Given the description of an element on the screen output the (x, y) to click on. 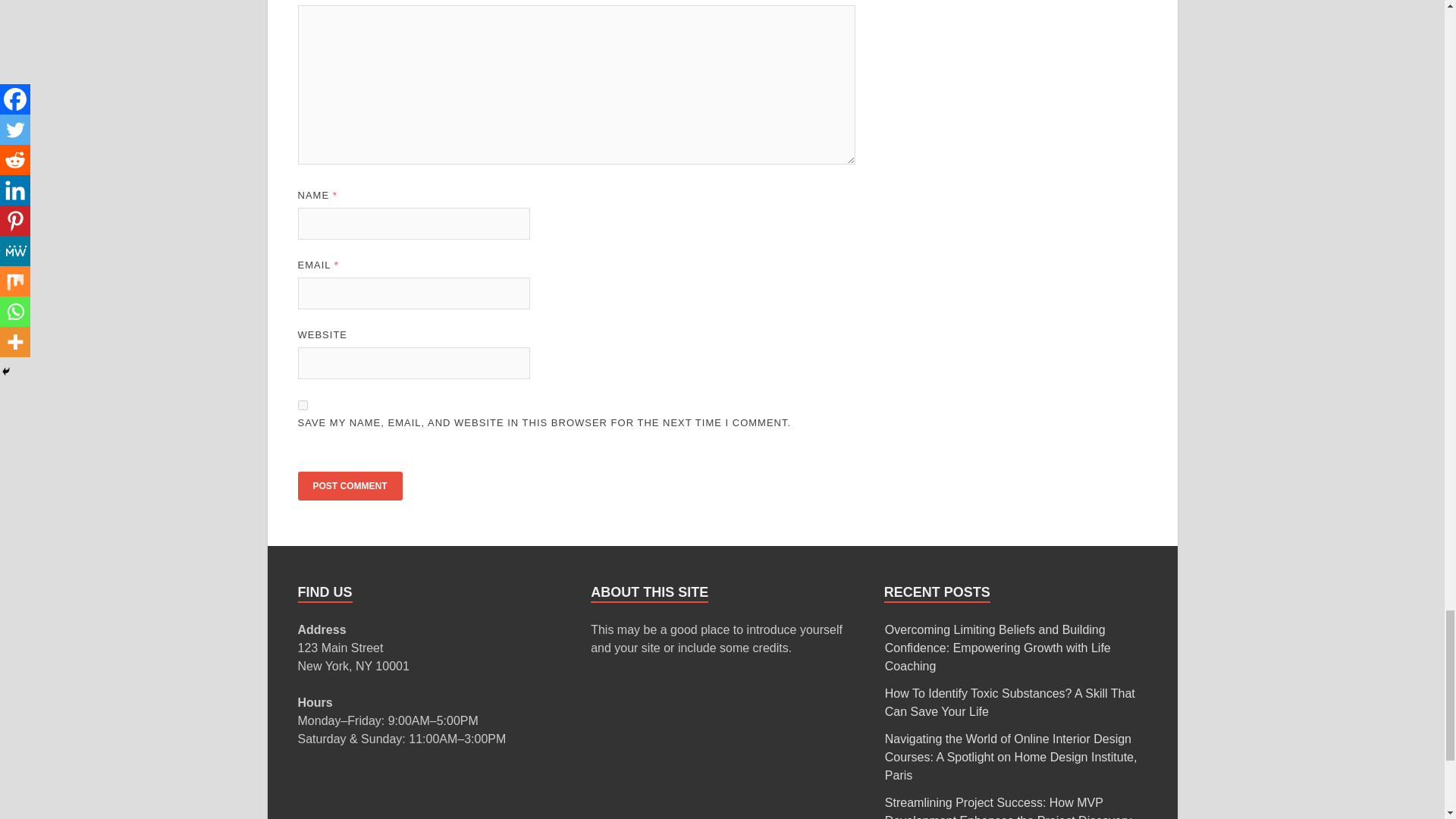
yes (302, 405)
Post Comment (349, 485)
